Given the description of an element on the screen output the (x, y) to click on. 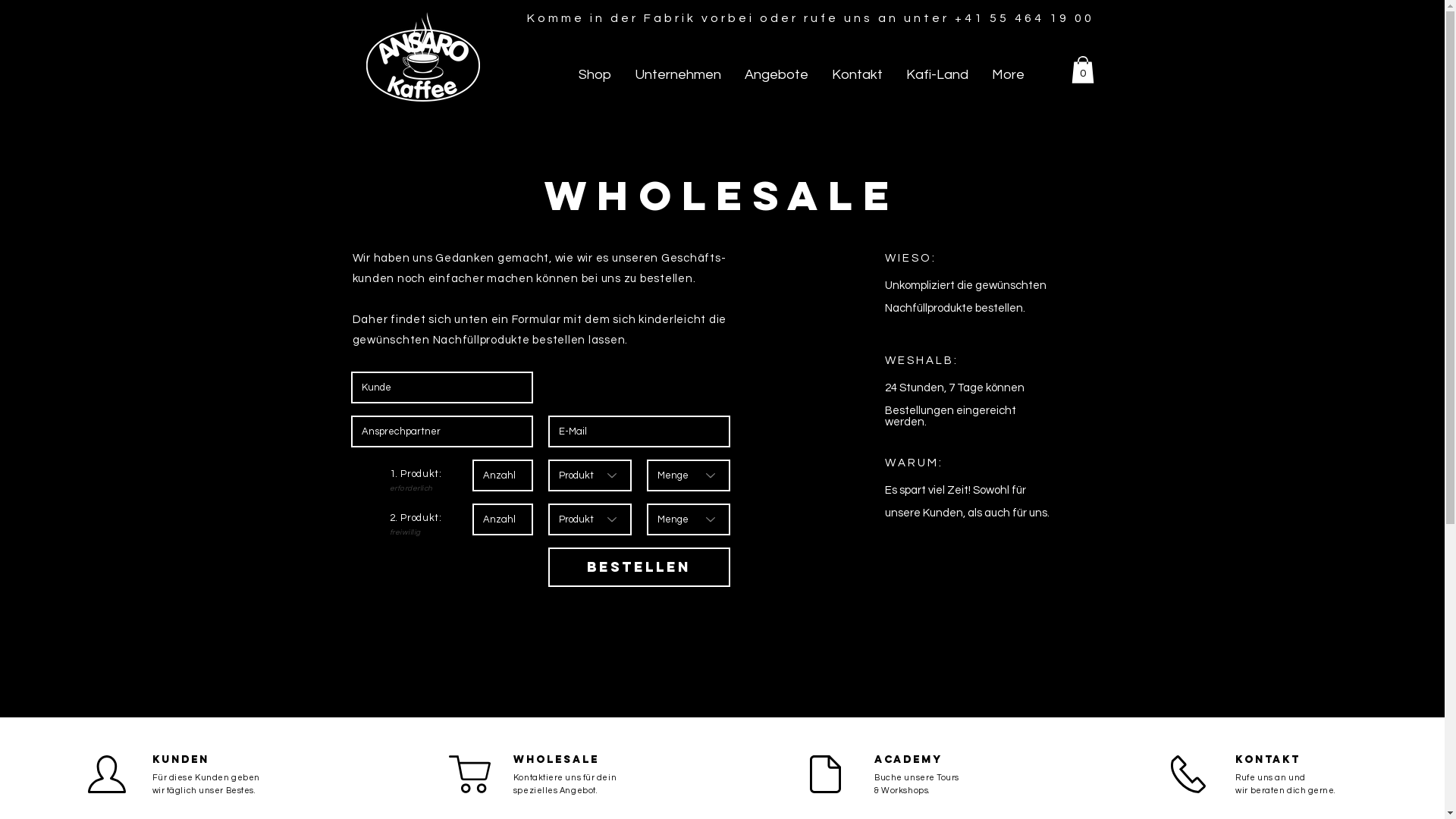
Rufe uns an und Element type: text (1270, 777)
Kontakt Element type: text (1267, 759)
Kafi-Land Element type: text (936, 75)
WHOLESALE Element type: text (556, 759)
0 Element type: text (1081, 69)
wir beraten dich gerne. Element type: text (1285, 789)
+41 55 464 19 00 Element type: text (1023, 18)
Kunden Element type: text (180, 759)
ACADEMY Element type: text (908, 759)
Bestellen Element type: text (638, 566)
Shop Element type: text (593, 75)
Kontakt Element type: text (856, 75)
